Given the description of an element on the screen output the (x, y) to click on. 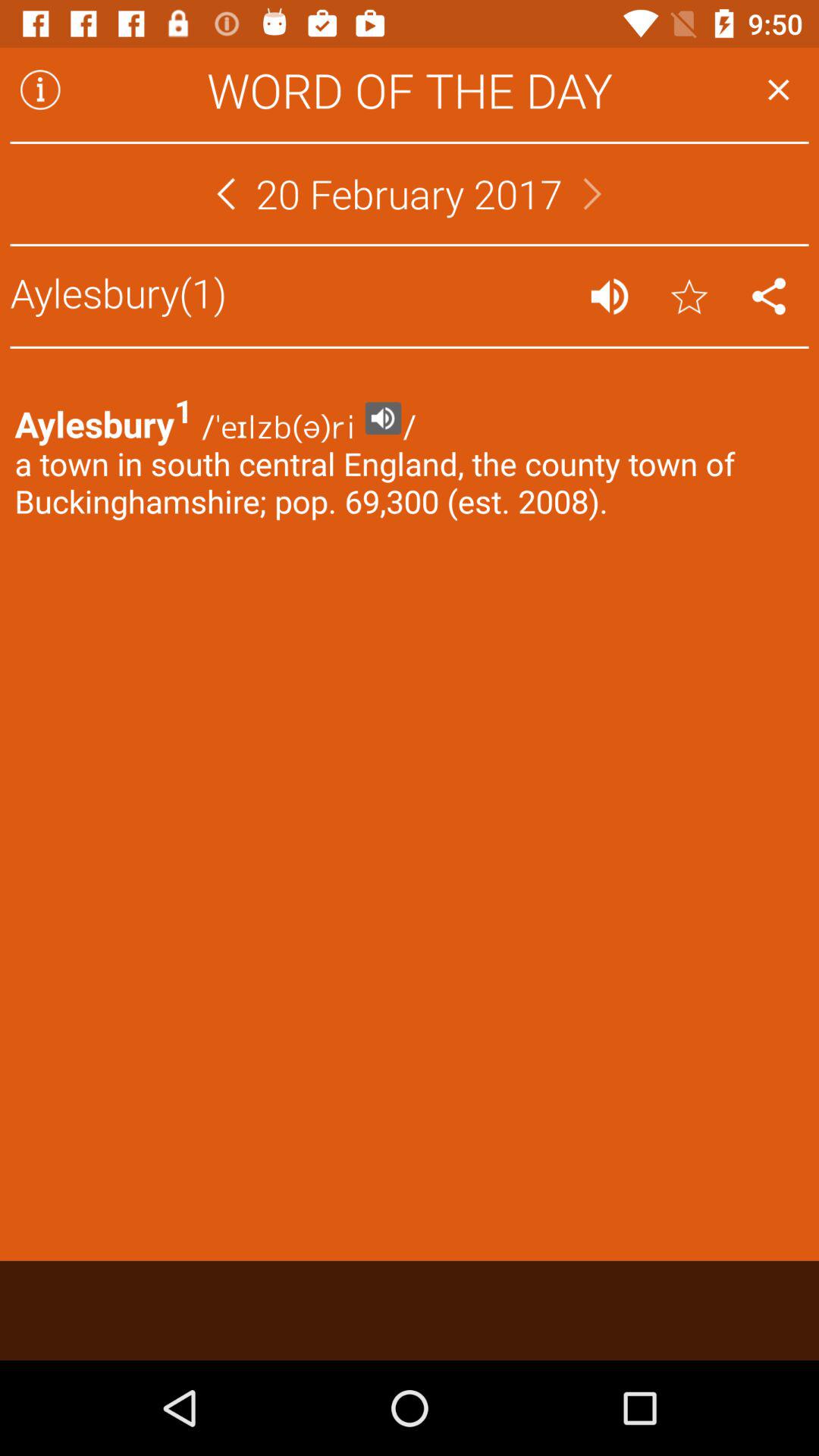
select item to the right of word of the (778, 89)
